Given the description of an element on the screen output the (x, y) to click on. 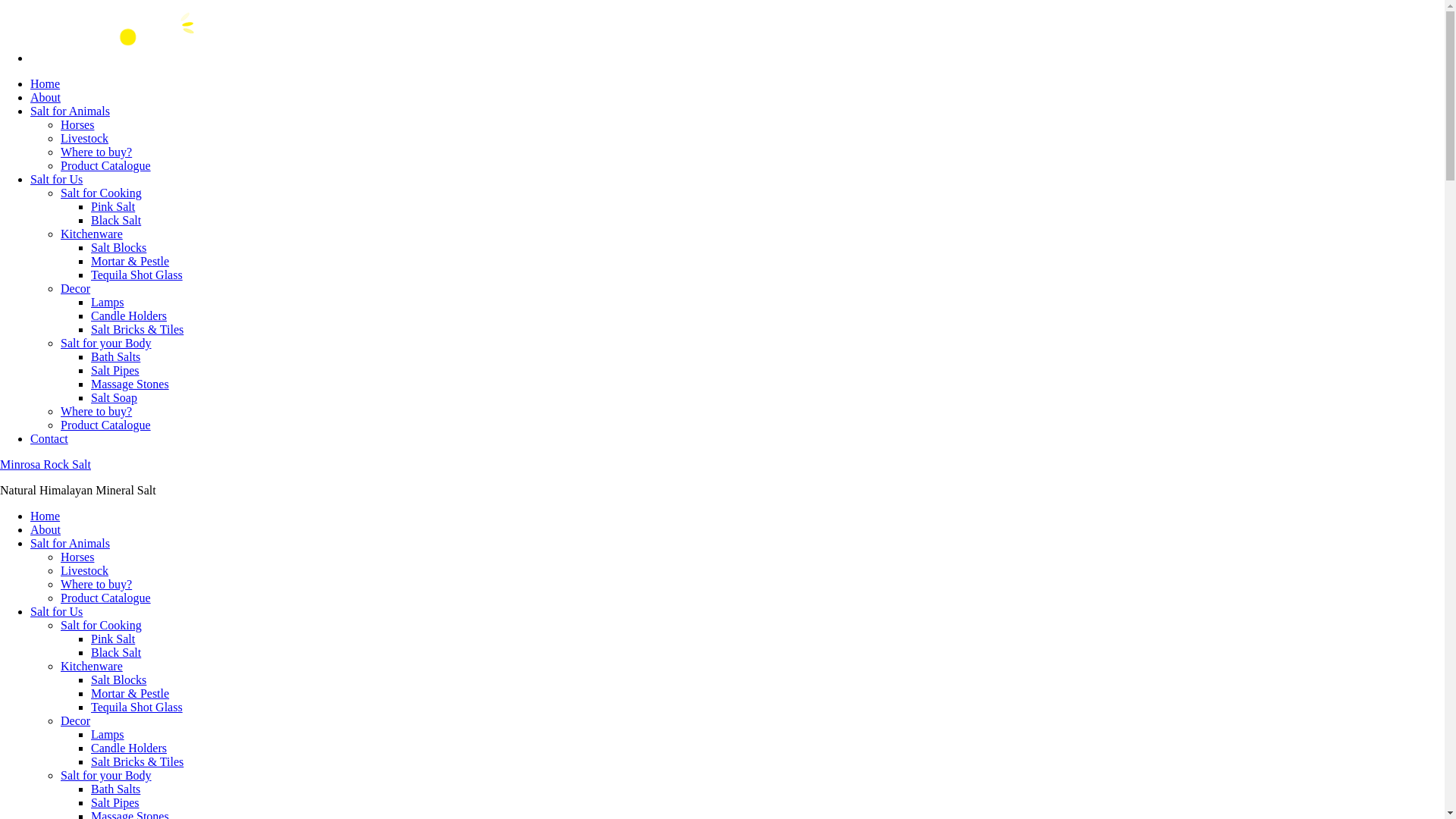
Salt Bricks & Tiles Element type: text (137, 329)
Candle Holders Element type: text (128, 747)
Bath Salts Element type: text (115, 788)
Mortar & Pestle Element type: text (130, 693)
Salt for Animals Element type: text (69, 110)
Salt for your Body Element type: text (105, 774)
Product Catalogue Element type: text (105, 424)
Home Element type: text (44, 83)
Product Catalogue Element type: text (105, 597)
Salt Pipes Element type: text (115, 370)
Kitchenware Element type: text (91, 665)
Where to buy? Element type: text (95, 410)
Horses Element type: text (77, 124)
Salt Pipes Element type: text (115, 802)
Contact Element type: text (49, 438)
Salt for your Body Element type: text (105, 342)
Salt Blocks Element type: text (118, 679)
Decor Element type: text (75, 720)
Horses Element type: text (77, 556)
Where to buy? Element type: text (95, 151)
Lamps Element type: text (107, 301)
Salt for Us Element type: text (56, 611)
Mortar & Pestle Element type: text (130, 260)
About Element type: text (45, 97)
Lamps Element type: text (107, 734)
Pink Salt Element type: text (112, 206)
Home Element type: text (44, 515)
Salt Blocks Element type: text (118, 247)
Black Salt Element type: text (116, 219)
Salt for Cooking Element type: text (100, 192)
Black Salt Element type: text (116, 652)
Where to buy? Element type: text (95, 583)
Kitchenware Element type: text (91, 233)
Tequila Shot Glass Element type: text (136, 274)
Pink Salt Element type: text (112, 638)
Decor Element type: text (75, 288)
Livestock Element type: text (84, 570)
Salt for Us Element type: text (56, 178)
Candle Holders Element type: text (128, 315)
Salt for Cooking Element type: text (100, 624)
Salt Bricks & Tiles Element type: text (137, 761)
Salt for Animals Element type: text (69, 542)
Product Catalogue Element type: text (105, 165)
Tequila Shot Glass Element type: text (136, 706)
Minrosa Rock Salt Element type: text (45, 464)
Salt Soap Element type: text (114, 397)
About Element type: text (45, 529)
Massage Stones Element type: text (130, 383)
Bath Salts Element type: text (115, 356)
Livestock Element type: text (84, 137)
